Given the description of an element on the screen output the (x, y) to click on. 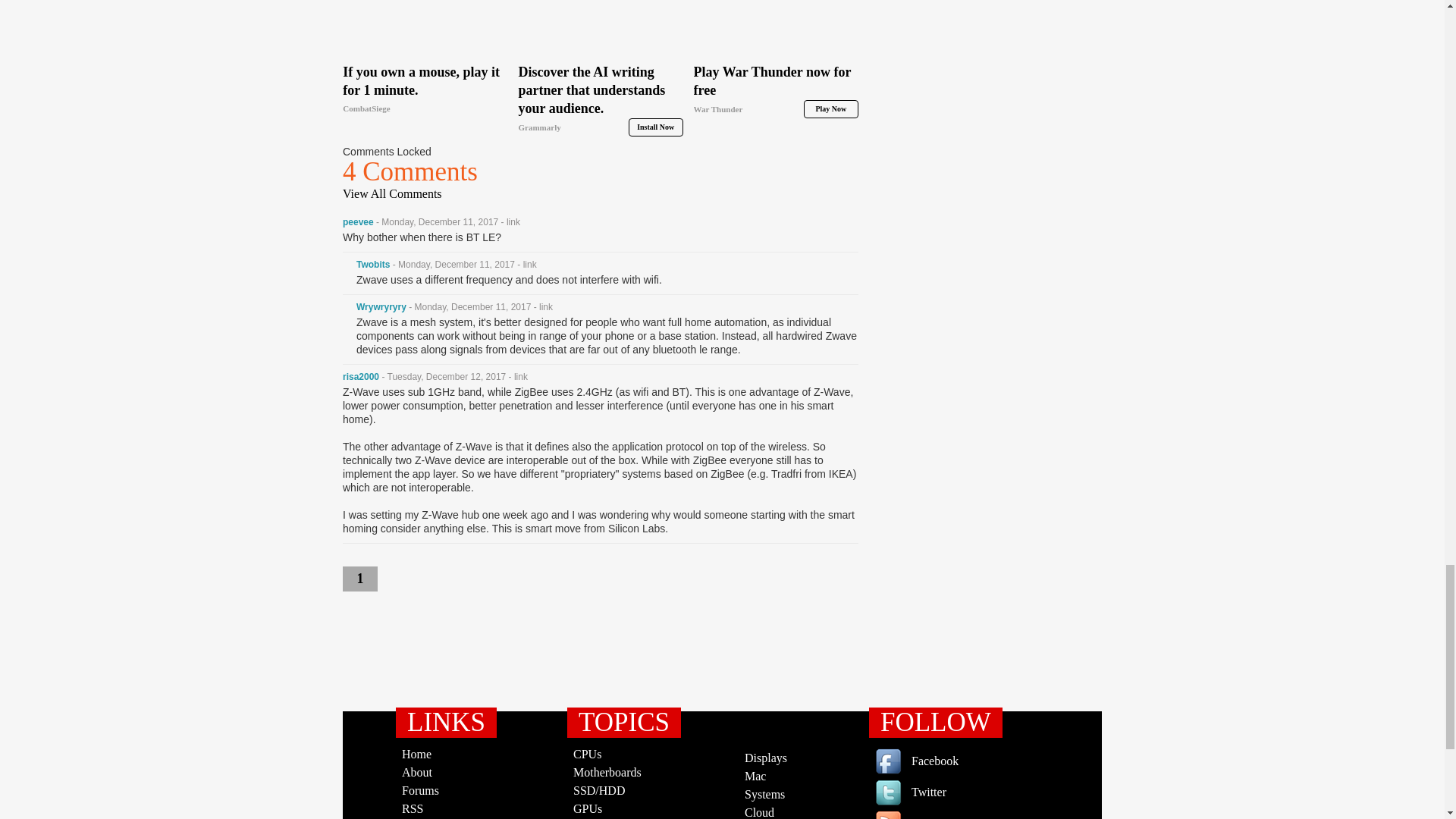
If you own a mouse, play it for 1 minute. (424, 29)
Play War Thunder now for free (776, 90)
Play War Thunder now for free (776, 29)
If you own a mouse, play it for 1 minute. (424, 90)
